Given the description of an element on the screen output the (x, y) to click on. 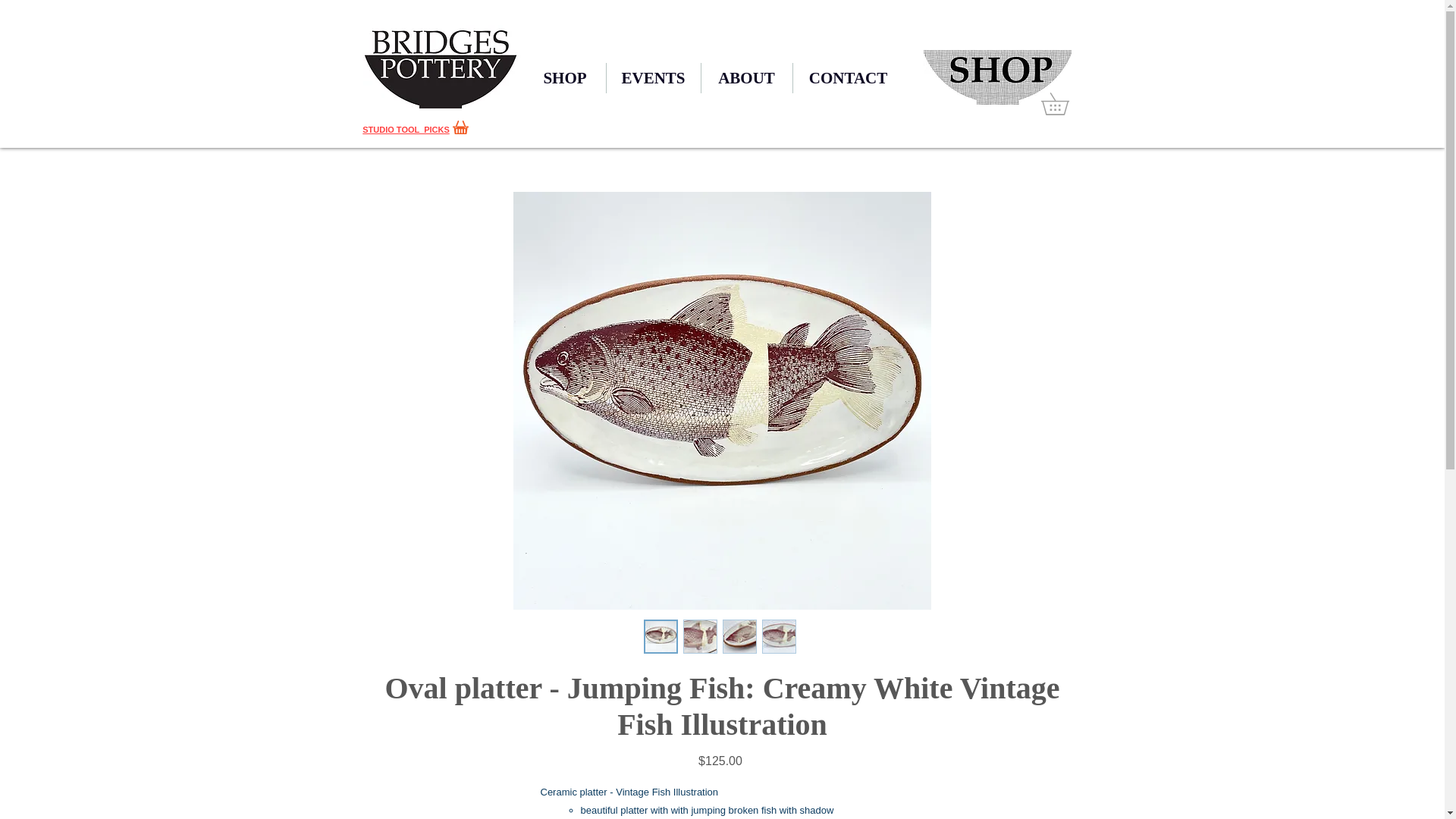
EVENTS (653, 78)
STUDIO TOOL  PICKS (405, 129)
SHOP (564, 78)
CONTACT (848, 78)
ABOUT (746, 78)
